Given the description of an element on the screen output the (x, y) to click on. 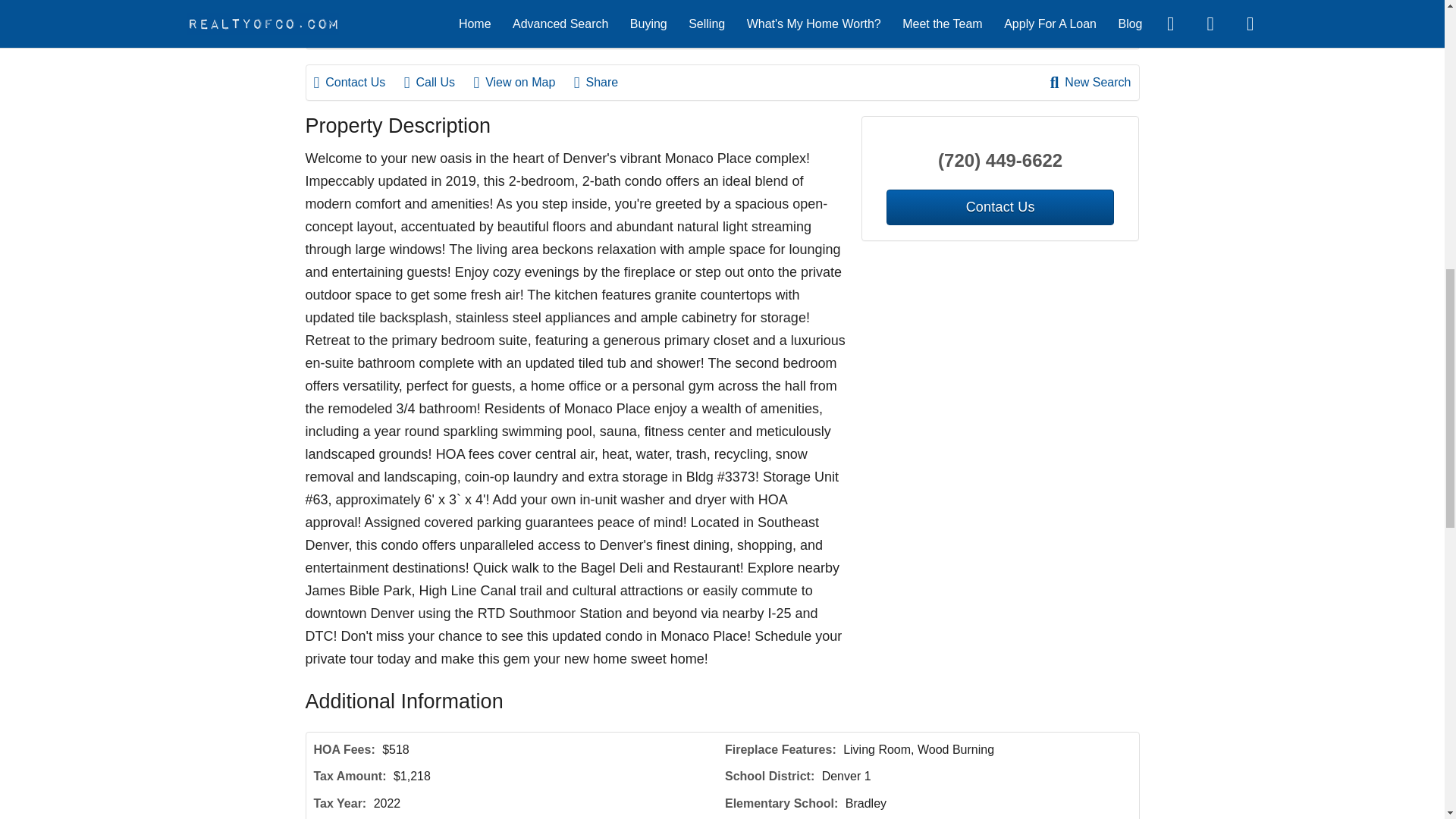
View on Map (521, 82)
New Search (1090, 82)
Share (603, 82)
Contact Us (357, 82)
Call Us (437, 82)
